Given the description of an element on the screen output the (x, y) to click on. 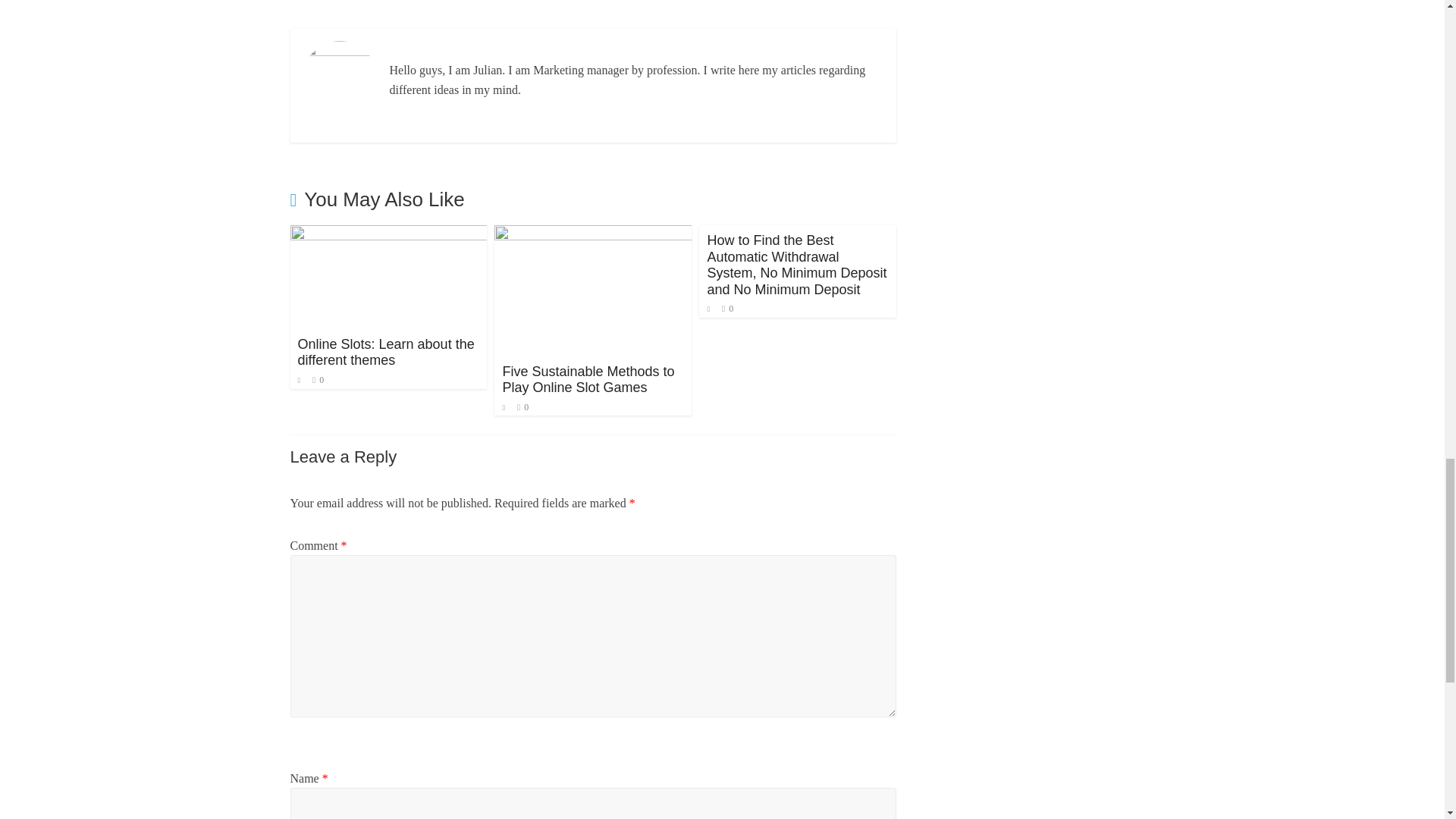
Five Sustainable Methods to Play Online Slot Games (588, 379)
Online Slots: Learn about the different themes (385, 352)
Online Slots: Learn about the different themes (385, 352)
Five Sustainable Methods to Play Online Slot Games (588, 379)
Online Slots: Learn about the different themes (387, 234)
Five Sustainable Methods to Play Online Slot Games (593, 234)
